Given the description of an element on the screen output the (x, y) to click on. 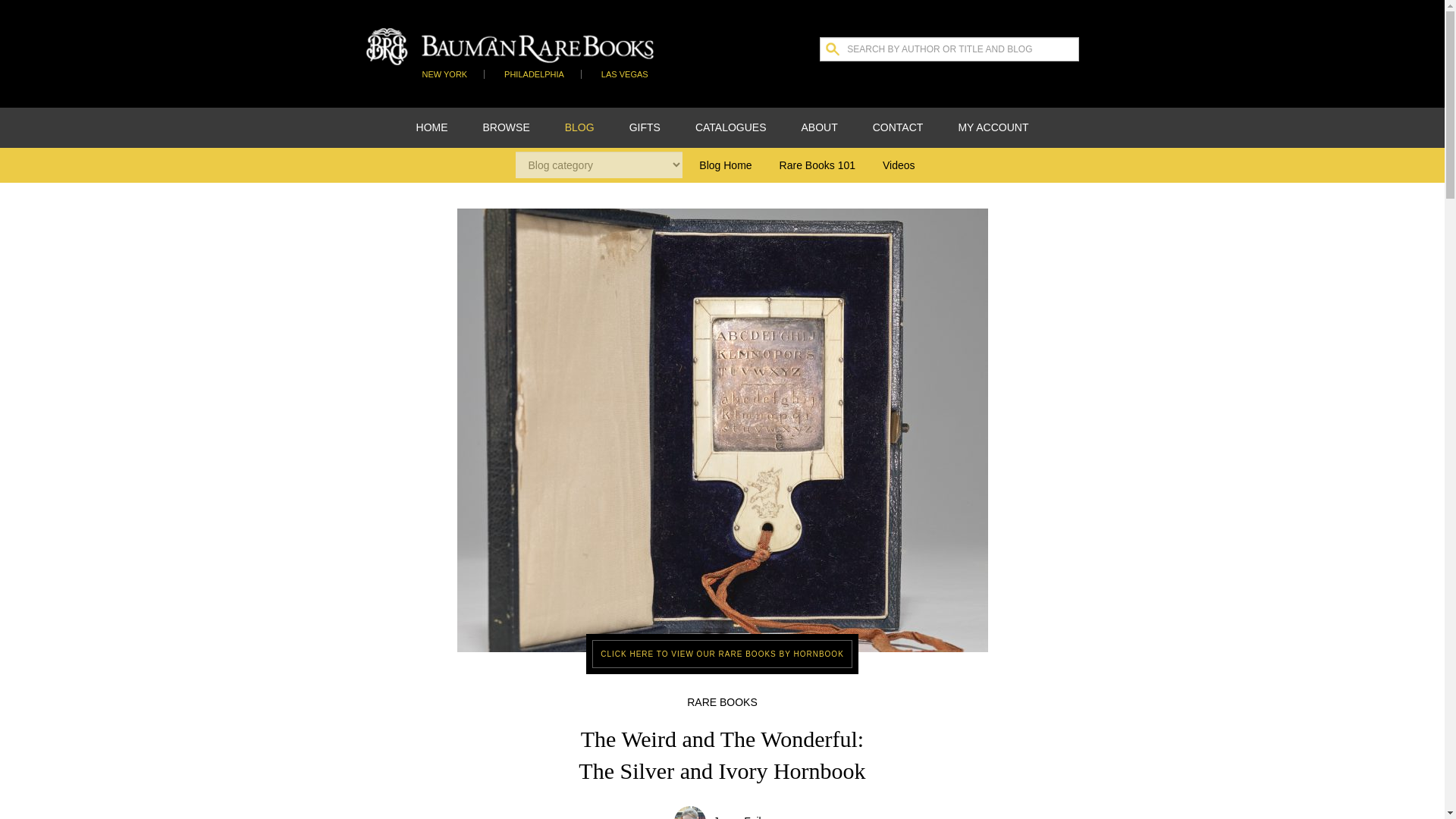
CLICK HERE TO VIEW OUR RARE BOOKS BY HORNBOOK (721, 653)
RARE BOOKS (722, 702)
submit (21, 10)
ABOUT (820, 127)
BROWSE (506, 127)
CATALOGUES (731, 127)
LAS VEGAS (625, 73)
MY ACCOUNT (992, 127)
Rare Books 101 (817, 165)
BLOG (579, 127)
GIFTS (644, 127)
Blog Home (725, 165)
HOME (431, 127)
PHILADELPHIA (533, 73)
CONTACT (898, 127)
